Given the description of an element on the screen output the (x, y) to click on. 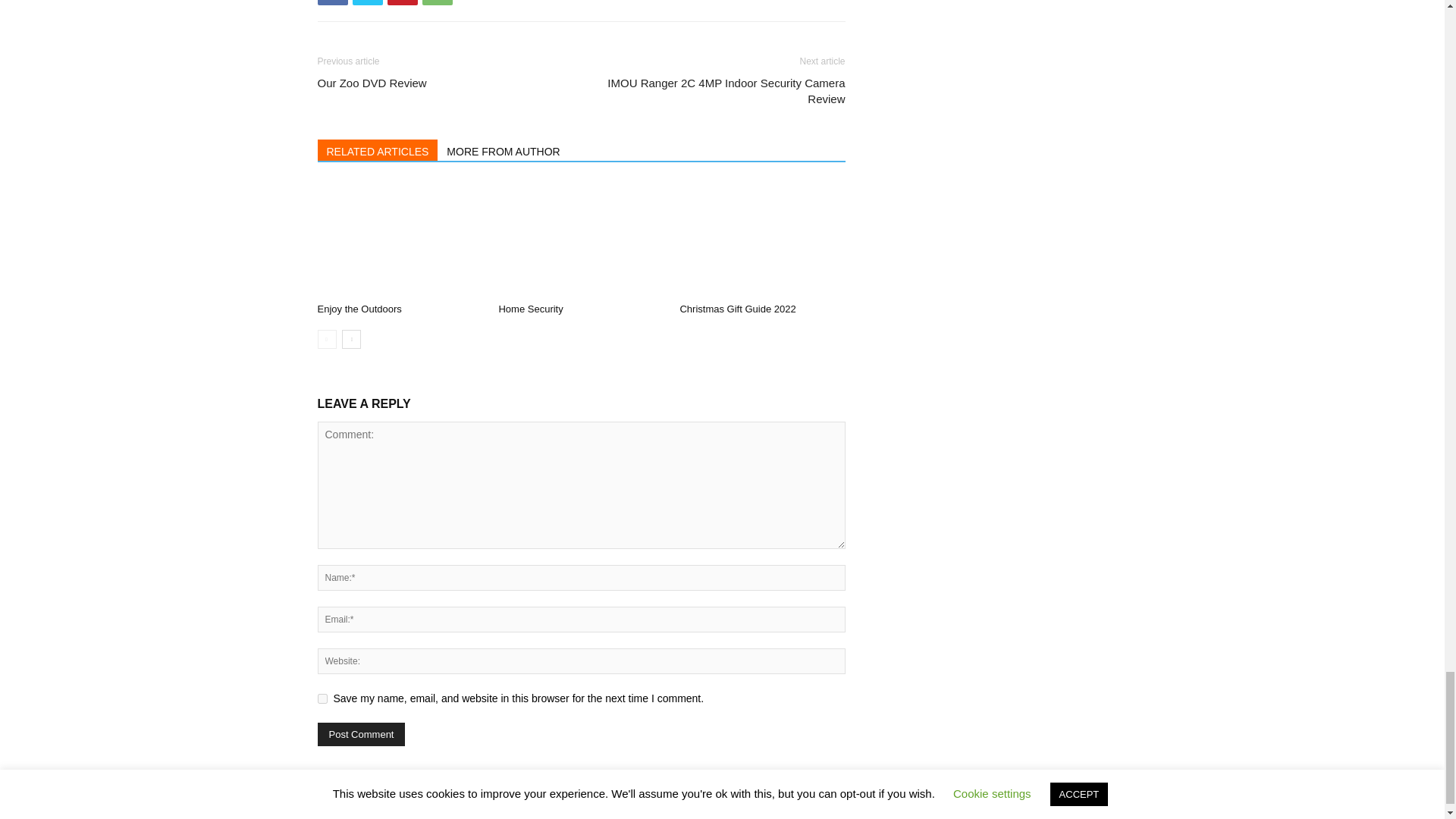
yes (321, 698)
Post Comment (360, 734)
